Given the description of an element on the screen output the (x, y) to click on. 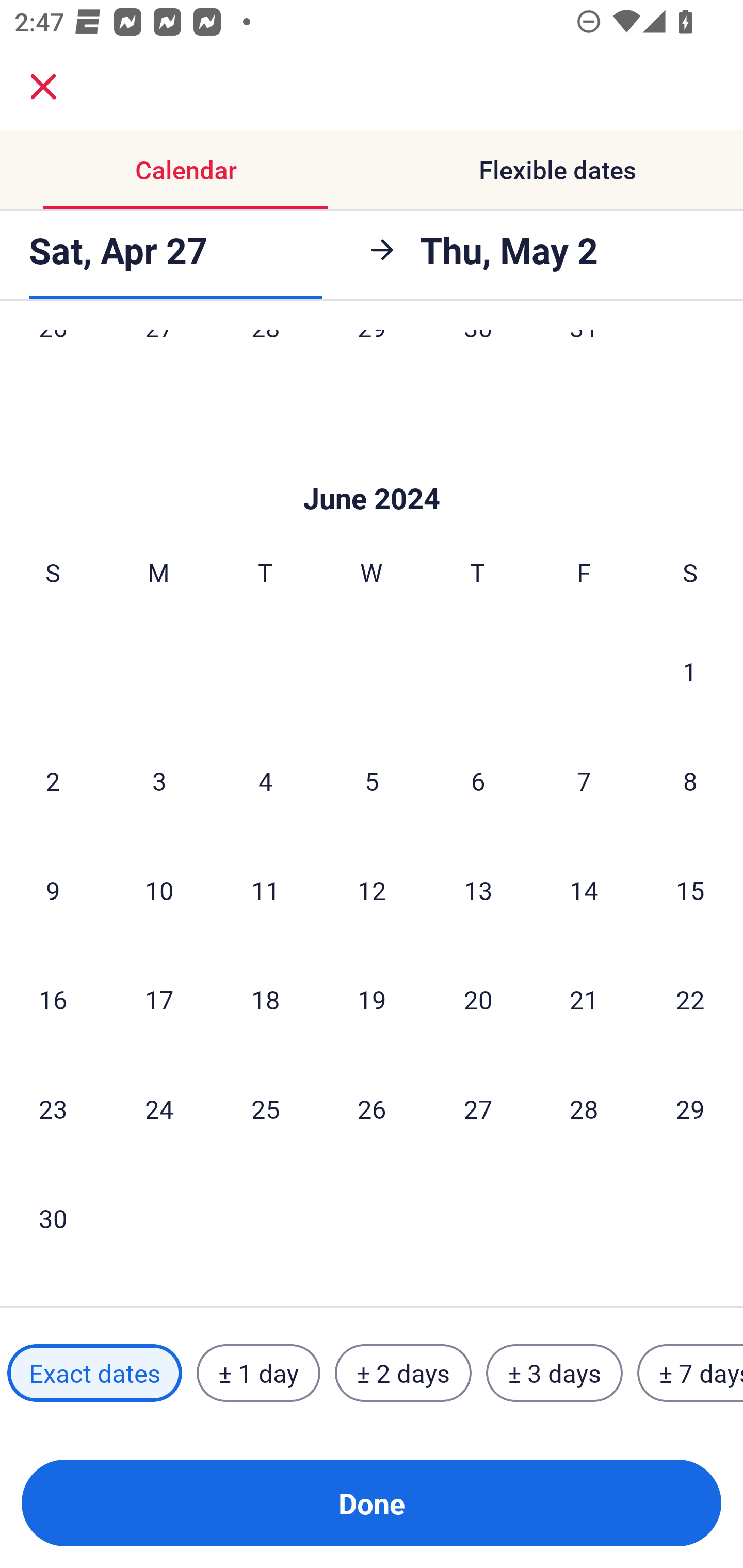
close. (43, 86)
Flexible dates (557, 170)
Skip to Done (371, 467)
1 Saturday, June 1, 2024 (689, 670)
2 Sunday, June 2, 2024 (53, 780)
3 Monday, June 3, 2024 (159, 780)
4 Tuesday, June 4, 2024 (265, 780)
5 Wednesday, June 5, 2024 (371, 780)
6 Thursday, June 6, 2024 (477, 780)
7 Friday, June 7, 2024 (584, 780)
8 Saturday, June 8, 2024 (690, 780)
9 Sunday, June 9, 2024 (53, 889)
10 Monday, June 10, 2024 (159, 889)
11 Tuesday, June 11, 2024 (265, 889)
12 Wednesday, June 12, 2024 (371, 889)
13 Thursday, June 13, 2024 (477, 889)
14 Friday, June 14, 2024 (584, 889)
15 Saturday, June 15, 2024 (690, 889)
16 Sunday, June 16, 2024 (53, 999)
17 Monday, June 17, 2024 (159, 999)
18 Tuesday, June 18, 2024 (265, 999)
19 Wednesday, June 19, 2024 (371, 999)
20 Thursday, June 20, 2024 (477, 999)
21 Friday, June 21, 2024 (584, 999)
22 Saturday, June 22, 2024 (690, 999)
23 Sunday, June 23, 2024 (53, 1108)
24 Monday, June 24, 2024 (159, 1108)
25 Tuesday, June 25, 2024 (265, 1108)
26 Wednesday, June 26, 2024 (371, 1108)
27 Thursday, June 27, 2024 (477, 1108)
28 Friday, June 28, 2024 (584, 1108)
29 Saturday, June 29, 2024 (690, 1108)
30 Sunday, June 30, 2024 (53, 1218)
Exact dates (94, 1372)
± 1 day (258, 1372)
± 2 days (403, 1372)
± 3 days (553, 1372)
± 7 days (690, 1372)
Done (371, 1502)
